Given the description of an element on the screen output the (x, y) to click on. 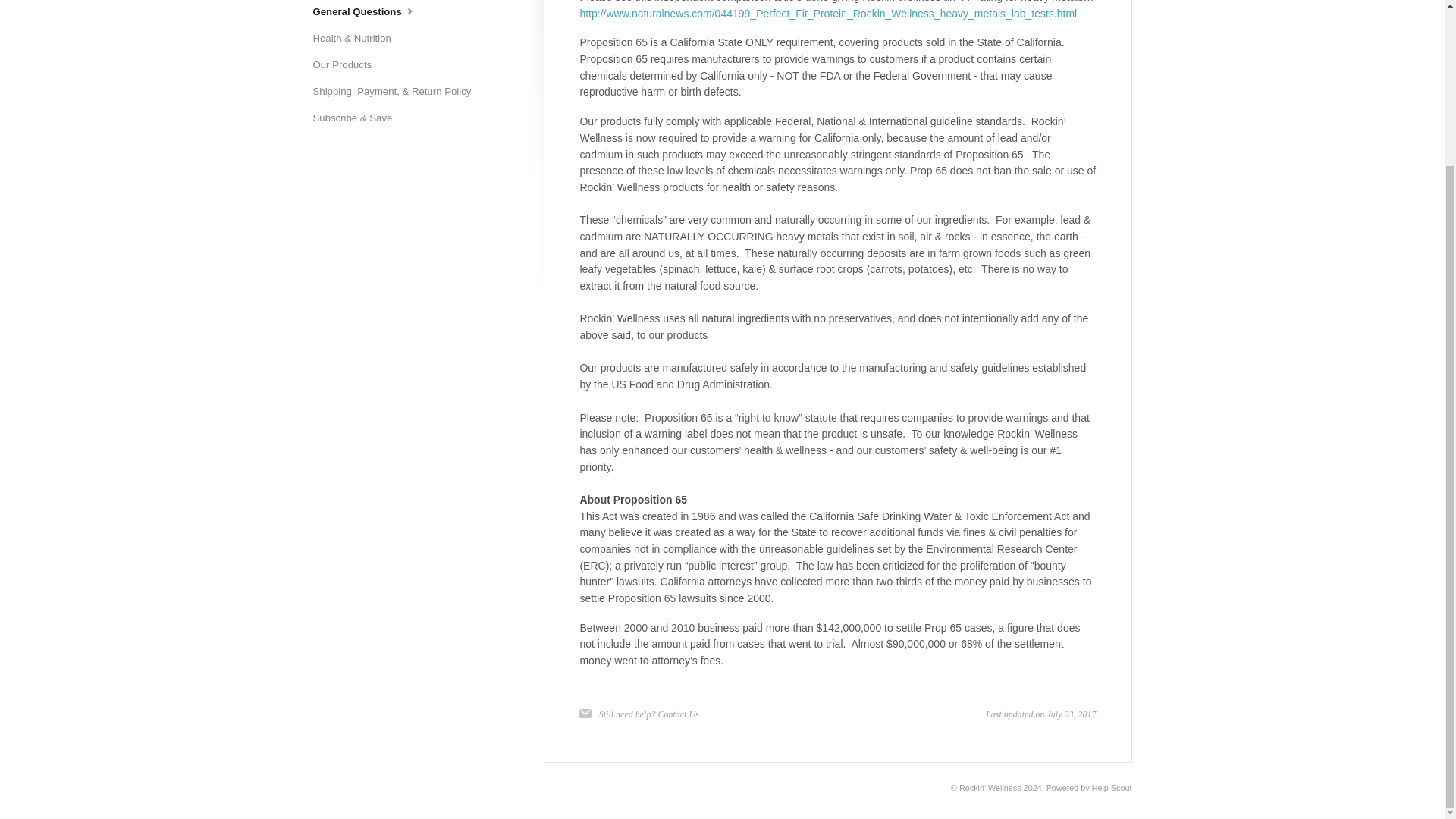
Contact Us (678, 714)
Help Scout (1112, 787)
General Questions (371, 12)
Our Products (347, 64)
Rockin' Wellness (990, 787)
